Given the description of an element on the screen output the (x, y) to click on. 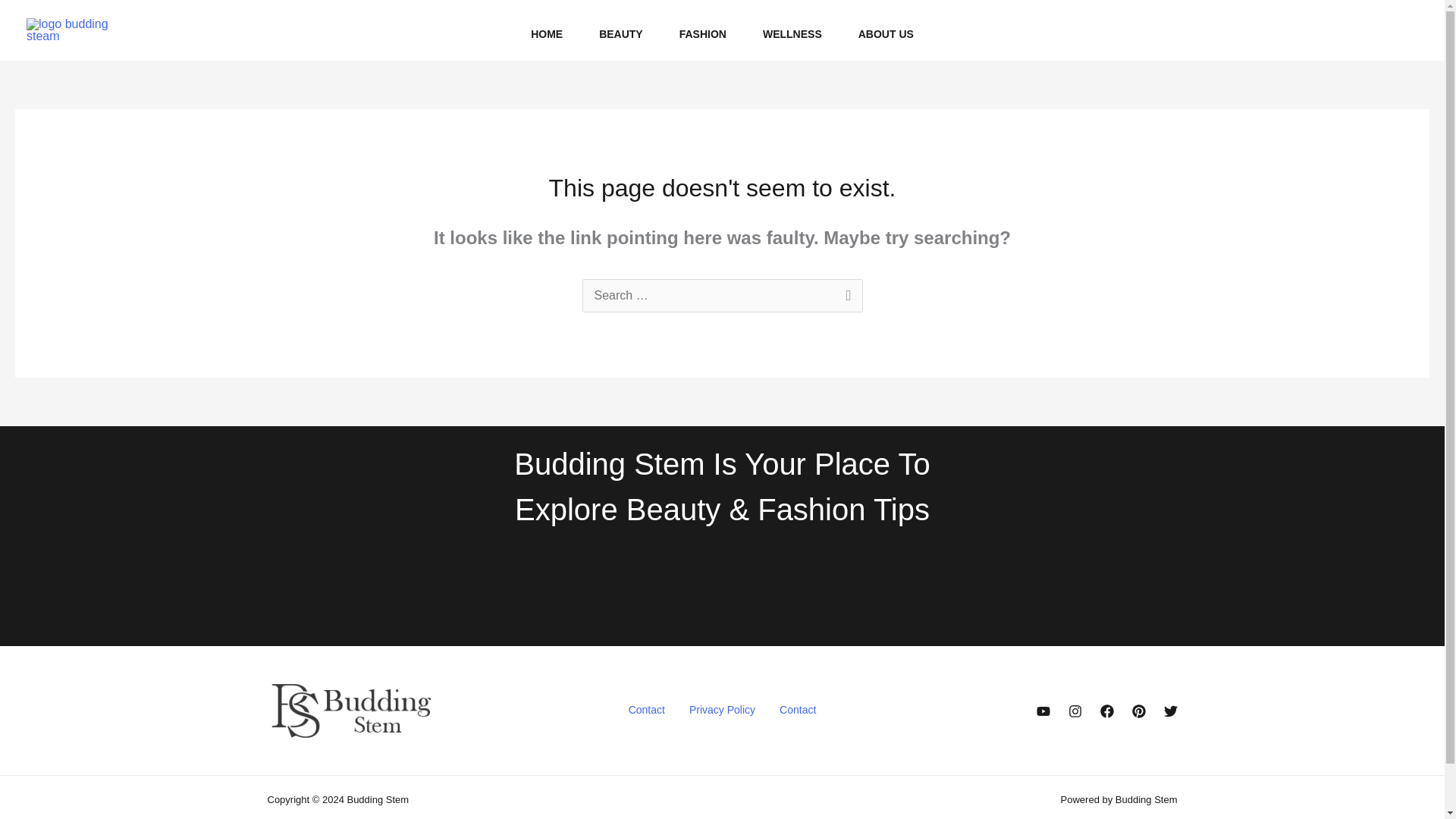
Privacy Policy (722, 710)
WELLNESS (792, 33)
Contact (797, 710)
FASHION (702, 33)
ABOUT US (885, 33)
BEAUTY (620, 33)
Contact (646, 710)
Search (844, 297)
Search (844, 297)
HOME (546, 33)
Search (844, 297)
